Given the description of an element on the screen output the (x, y) to click on. 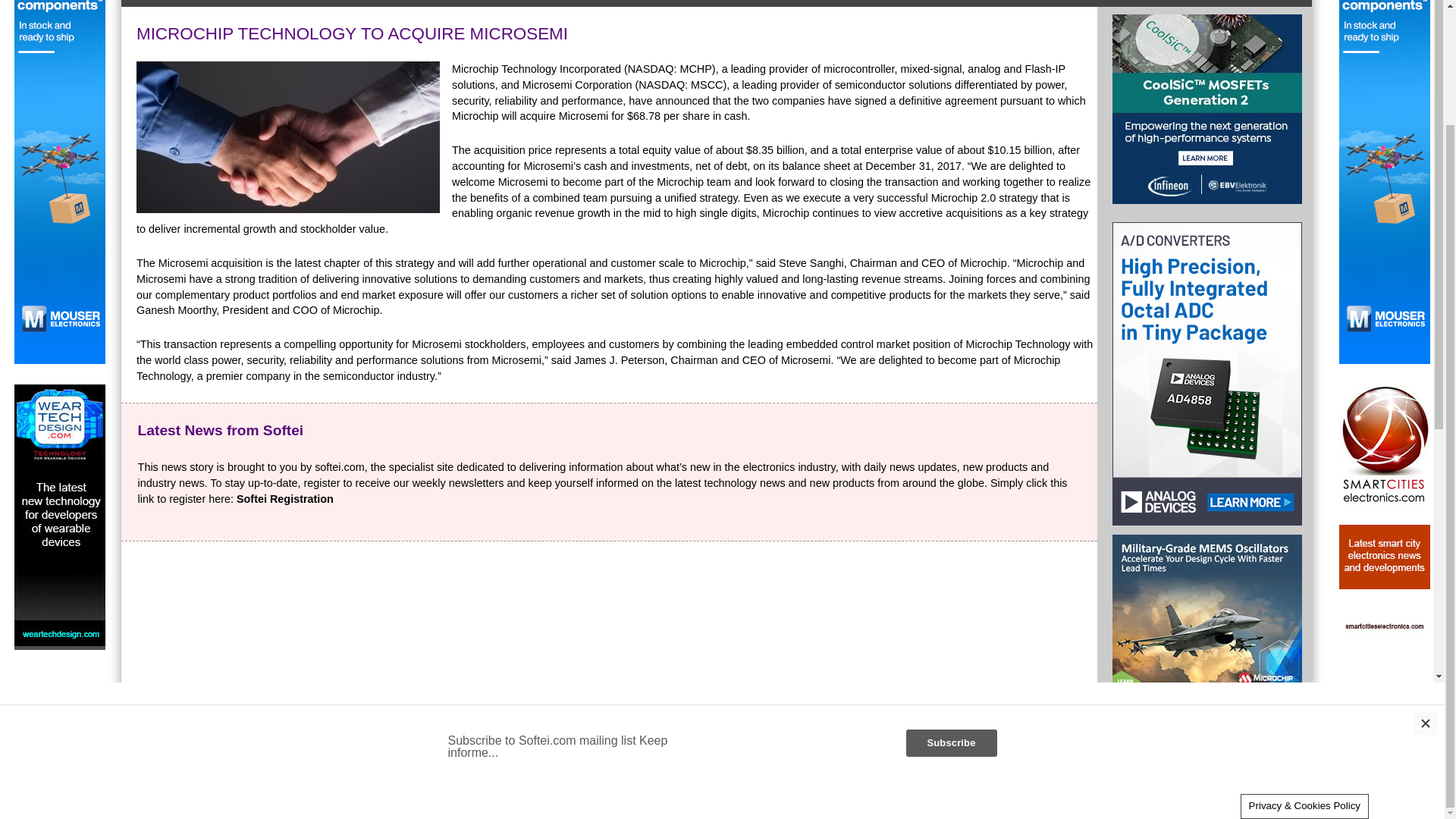
Power (455, 2)
Subscribe (956, 757)
Subscribe (956, 757)
Softei Registration (284, 499)
Racks (668, 2)
Embedded (610, 2)
Production Equipment (852, 2)
Sensors (1090, 2)
AI (1049, 2)
Analogue (723, 2)
IoT (771, 2)
Automotive (955, 2)
